Given the description of an element on the screen output the (x, y) to click on. 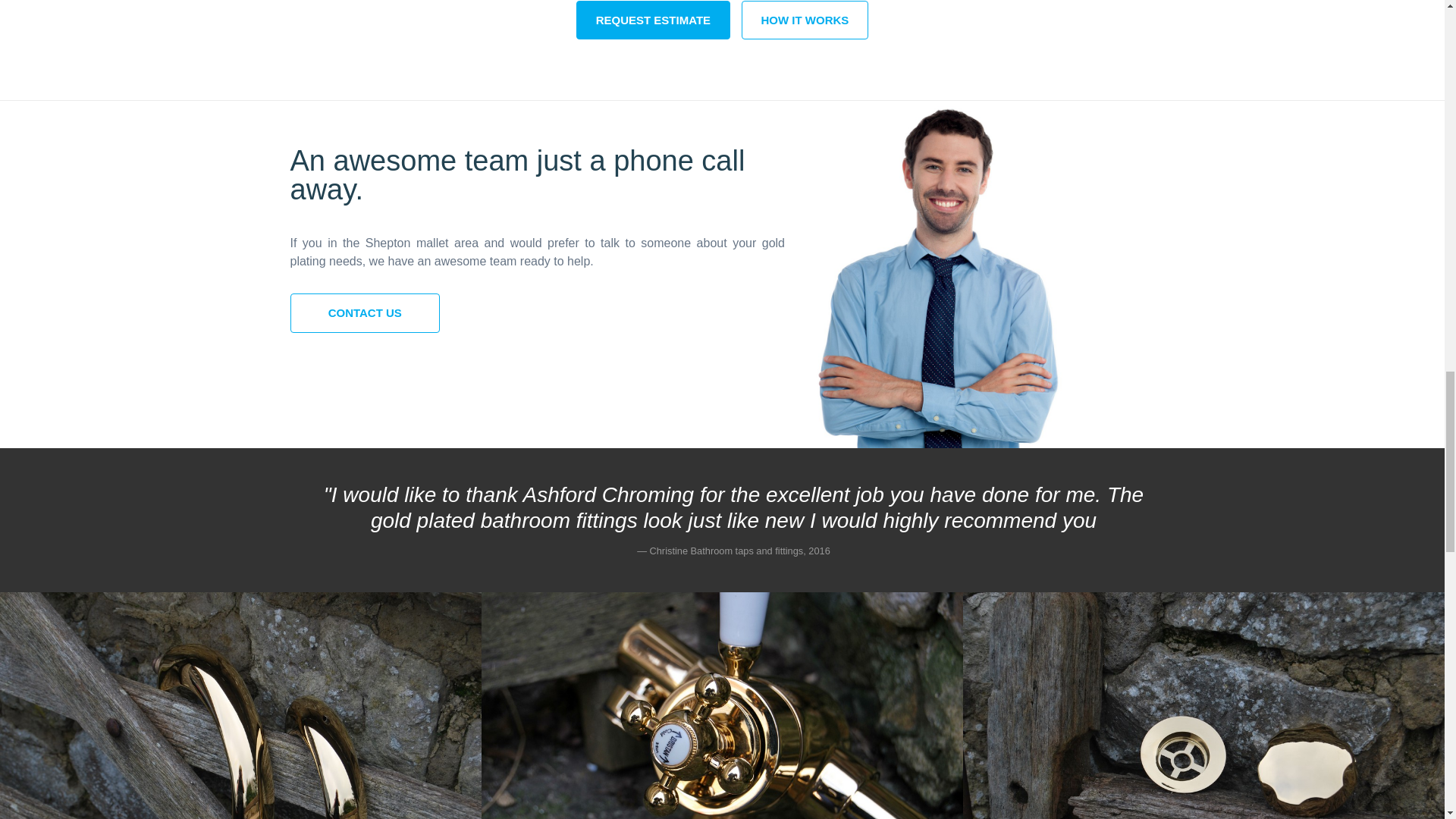
HOW IT WORKS (805, 19)
CONTACT US (364, 312)
REQUEST ESTIMATE (653, 19)
